Given the description of an element on the screen output the (x, y) to click on. 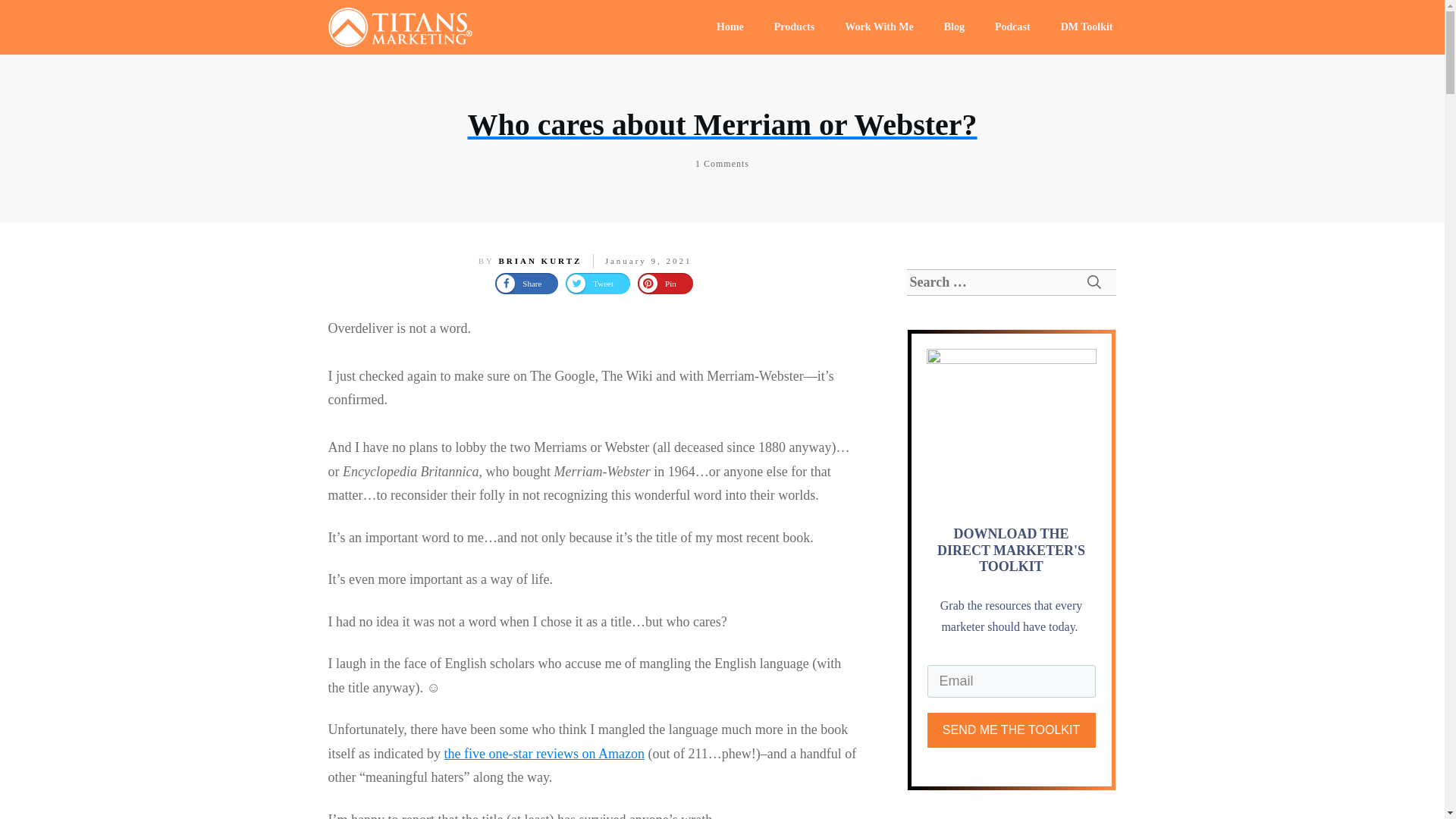
DM Toolkit (1087, 26)
Blog (953, 26)
BRIAN KURTZ (538, 260)
Share (526, 283)
the five one-star reviews on Amazon (543, 753)
Tweet (598, 283)
Pin (665, 283)
Search (1093, 282)
SEND ME THE TOOLKIT (1010, 729)
Products (793, 26)
